Given the description of an element on the screen output the (x, y) to click on. 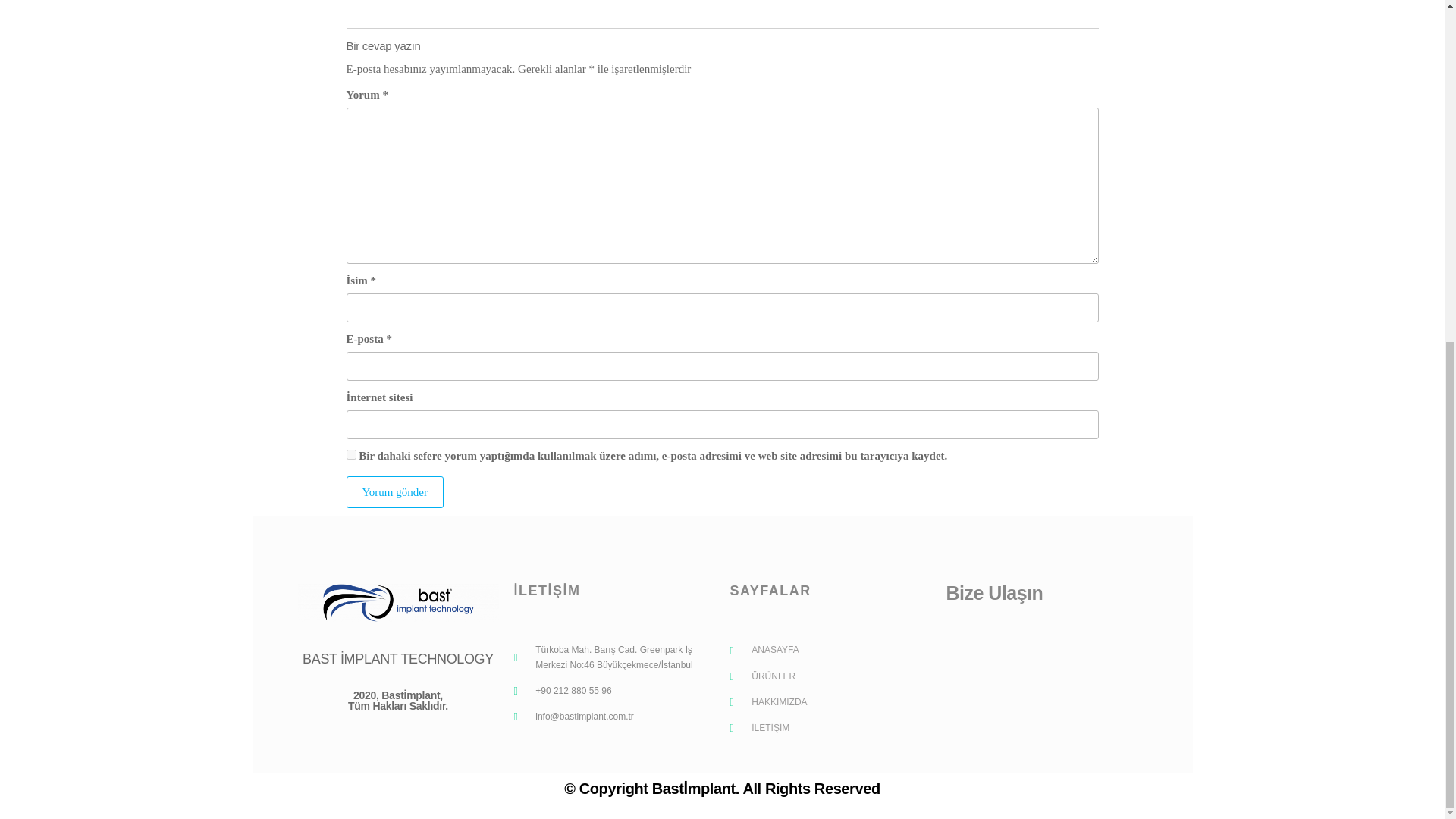
HAKKIMIZDA (829, 702)
yes (350, 454)
ANASAYFA (829, 649)
